Given the description of an element on the screen output the (x, y) to click on. 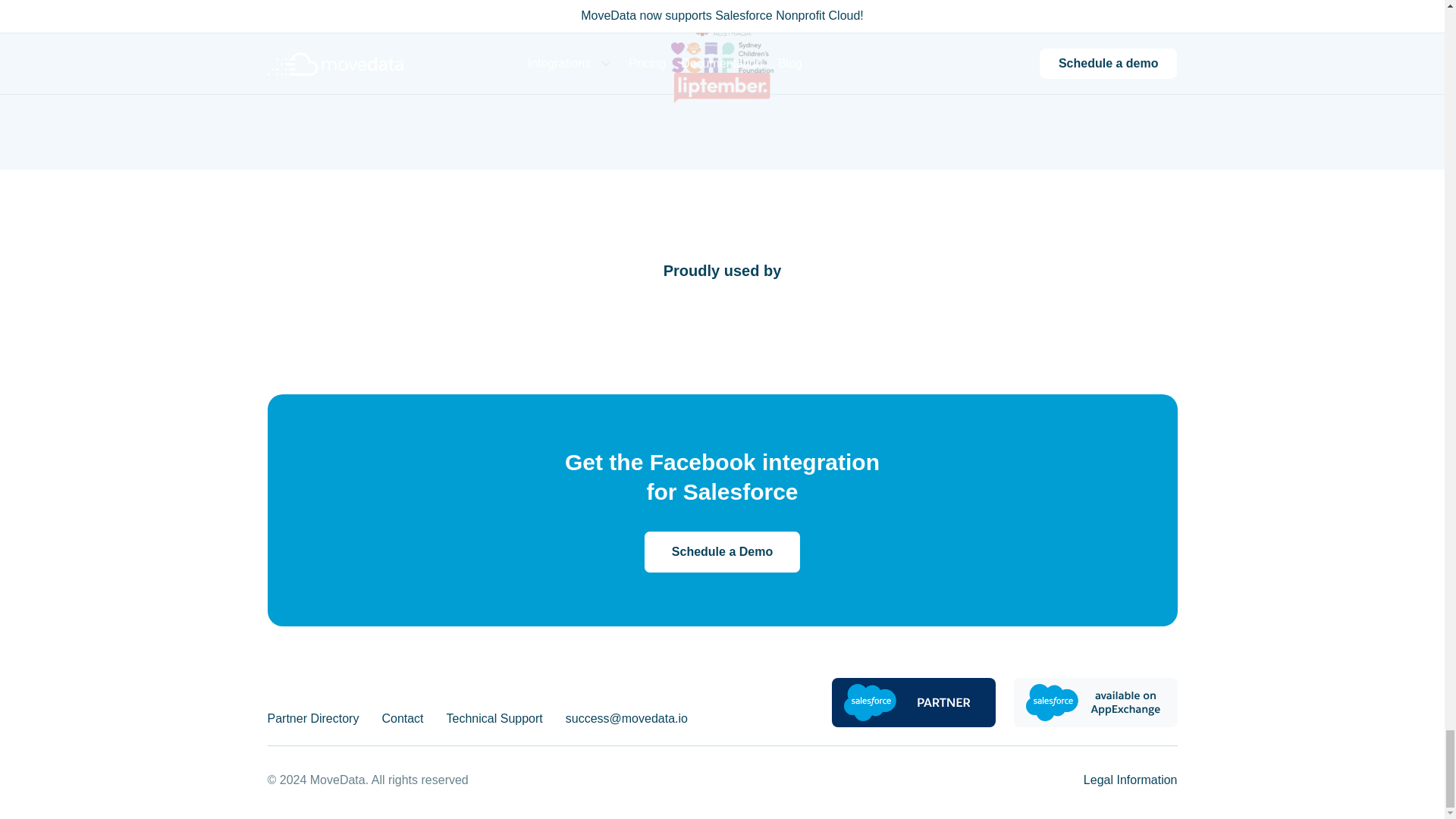
Partner Directory (312, 718)
Legal Information (1130, 780)
Technical Support (494, 718)
Contact (402, 718)
Schedule a Demo (721, 551)
